Given the description of an element on the screen output the (x, y) to click on. 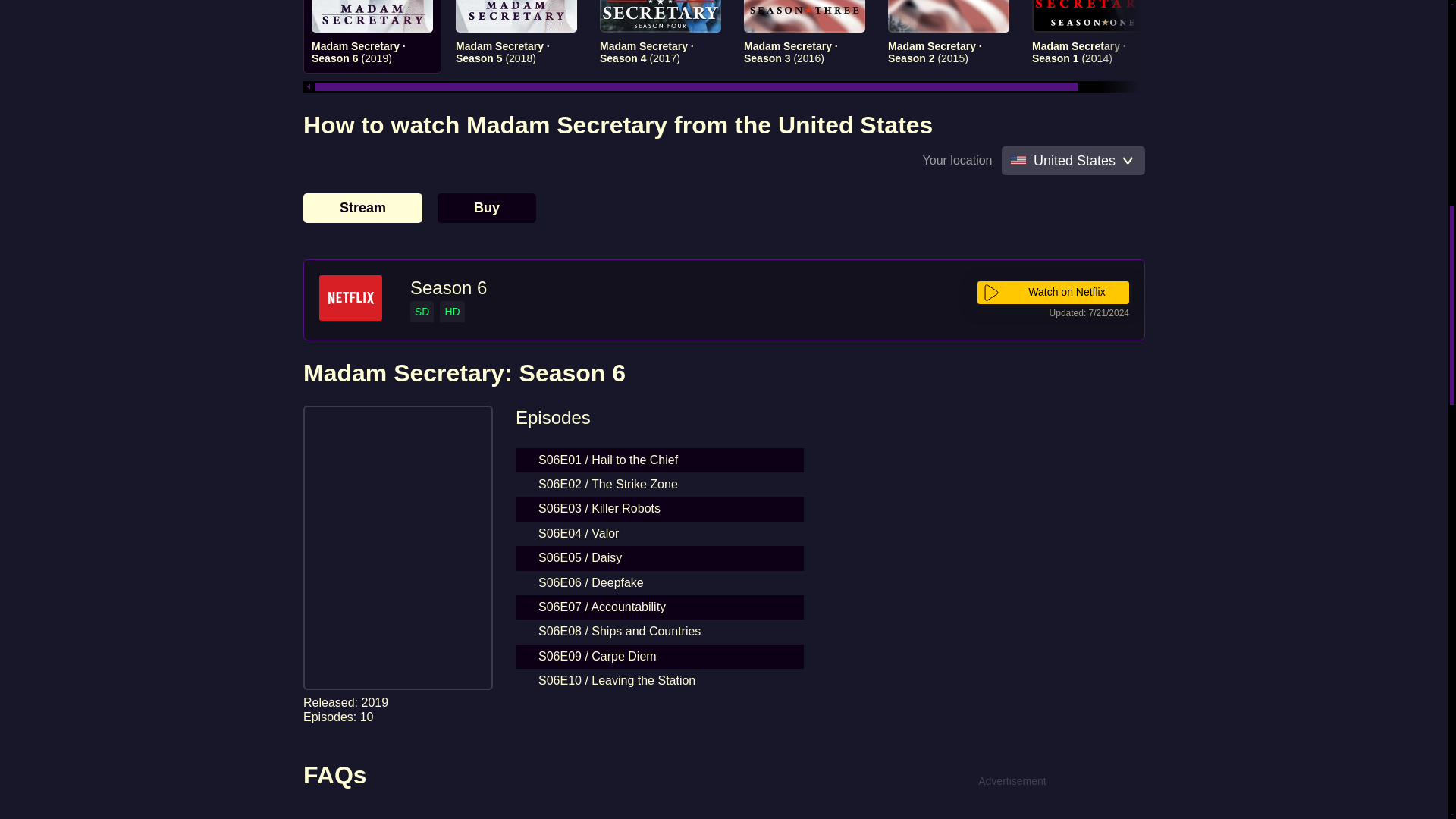
Season 6 at Netflix (349, 299)
Season 6 at Netflix (448, 287)
Season 6 at Netflix (1052, 292)
